Given the description of an element on the screen output the (x, y) to click on. 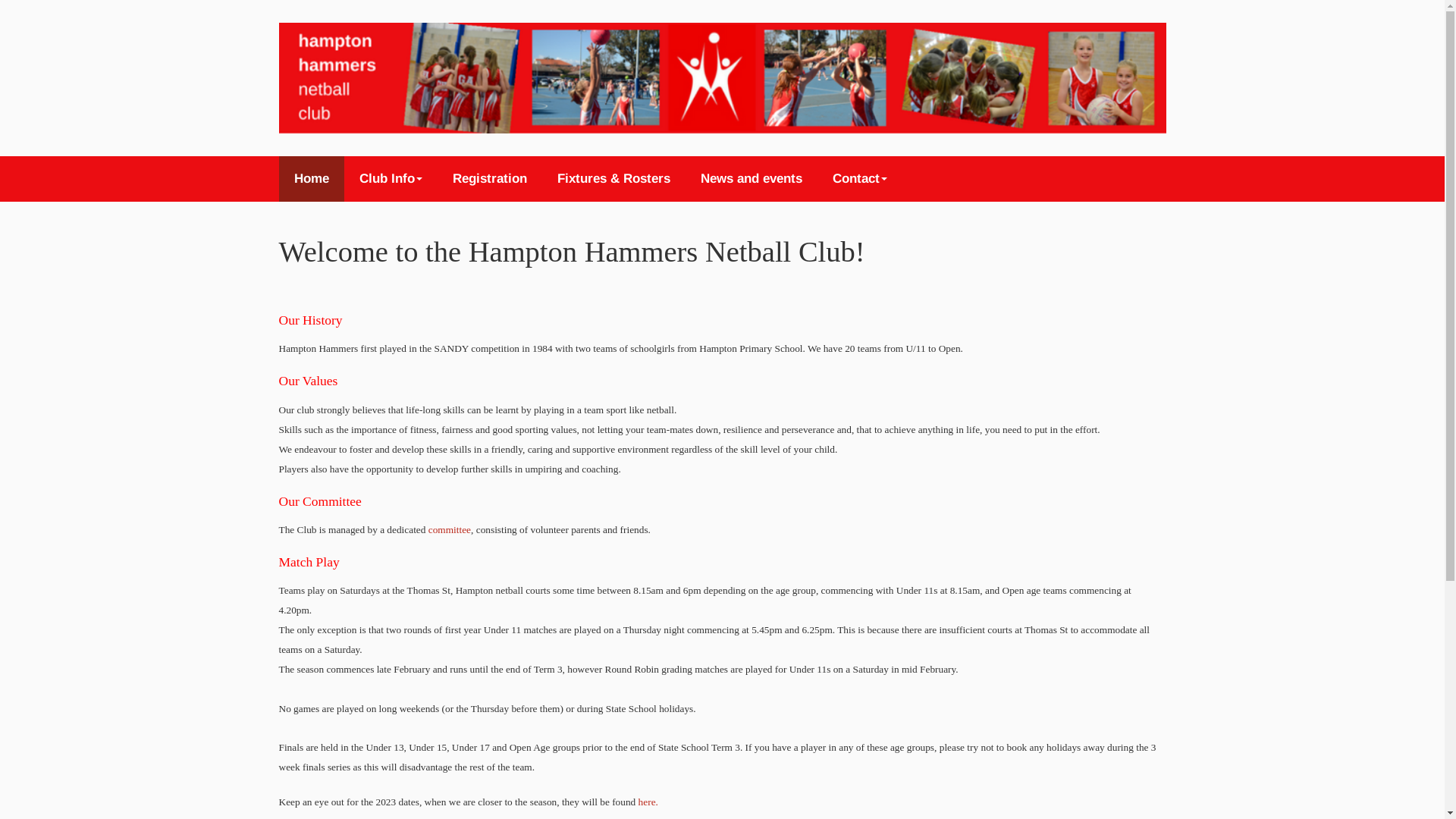
News and events Element type: text (751, 178)
Fixtures & Rosters Element type: text (612, 178)
Home Element type: text (311, 178)
Contact Element type: text (859, 178)
here. Element type: text (648, 801)
committee Element type: text (449, 529)
Club Info Element type: text (390, 178)
Registration Element type: text (488, 178)
